Given the description of an element on the screen output the (x, y) to click on. 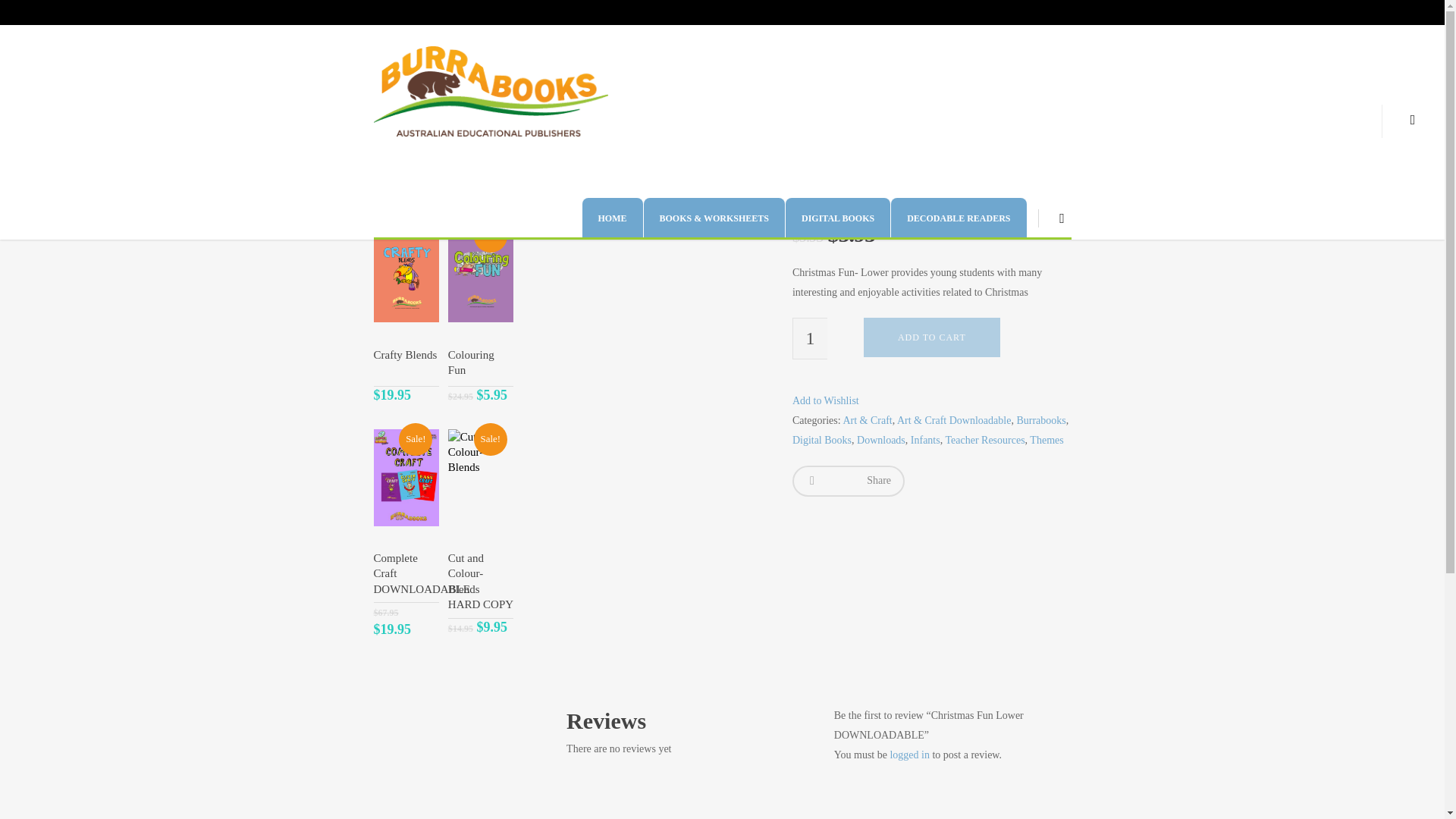
Home (383, 108)
DIGITAL BOOKS (837, 217)
HOME (611, 217)
DECODABLE READERS (958, 217)
